Given the description of an element on the screen output the (x, y) to click on. 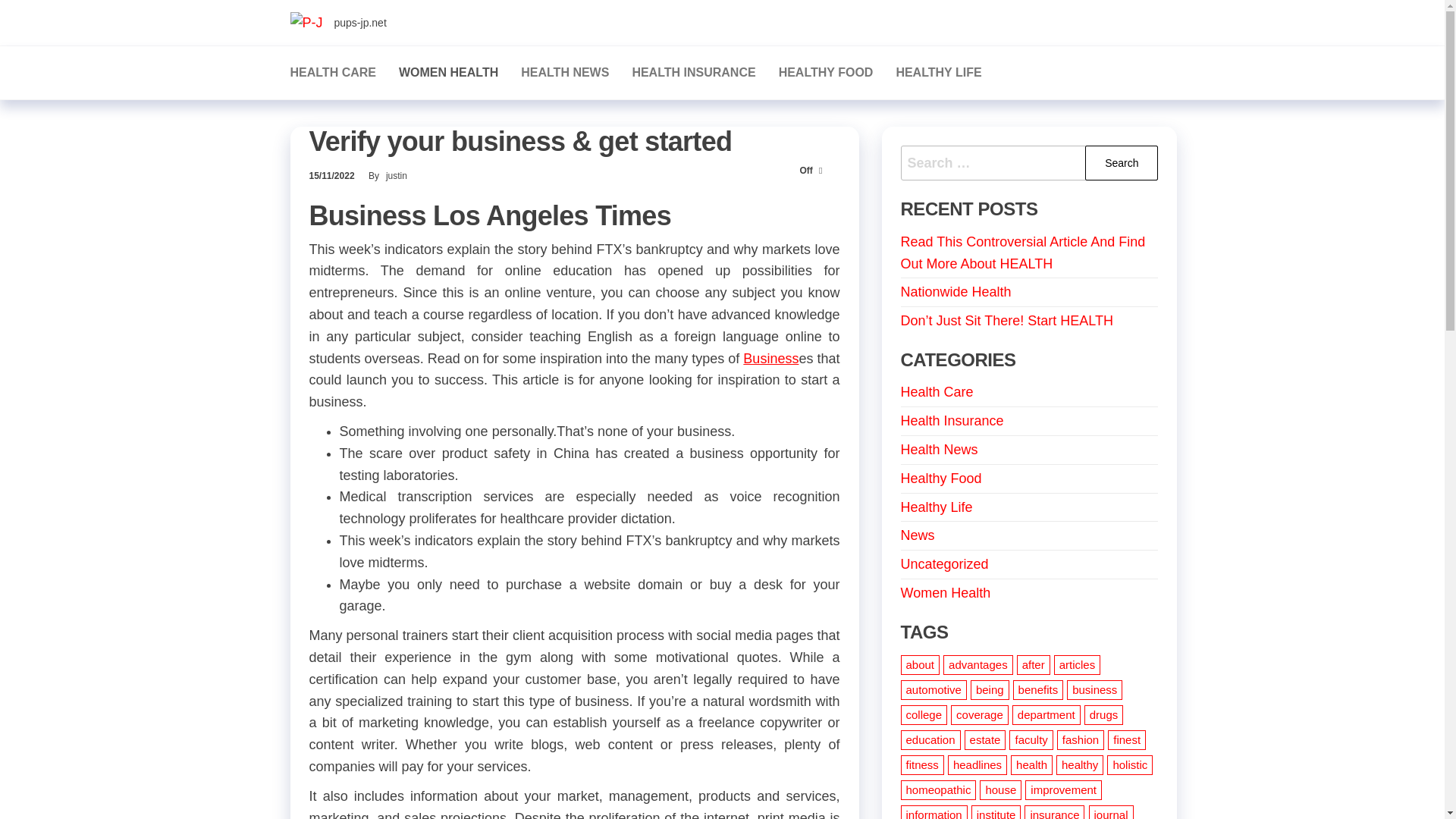
after (1032, 664)
college (924, 714)
Health News (939, 449)
Women Health (448, 72)
Healthy Life (937, 72)
Health Insurance (693, 72)
about (920, 664)
Healthy Life (936, 507)
Search (1120, 162)
Health News (564, 72)
